Given the description of an element on the screen output the (x, y) to click on. 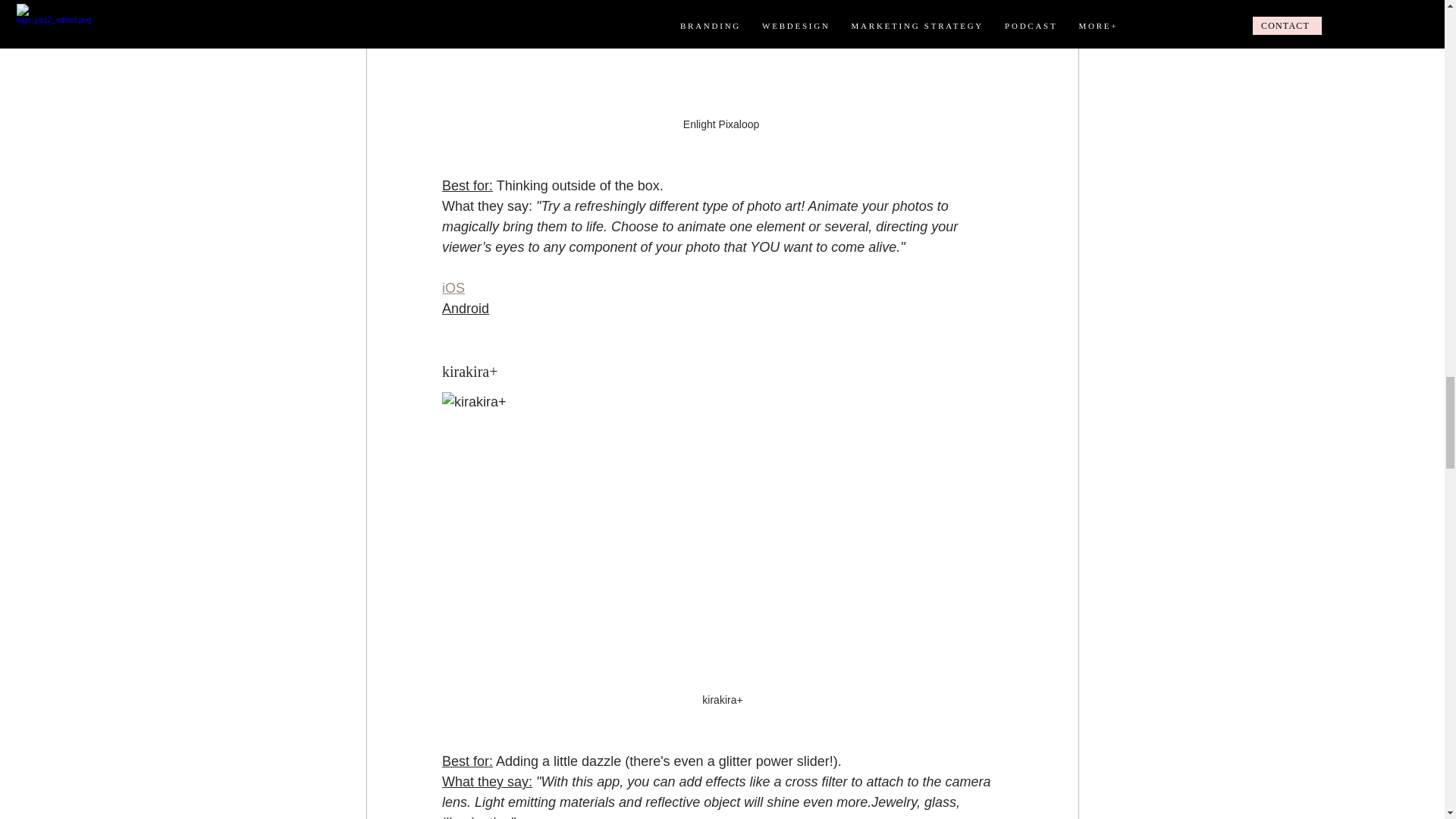
iOS (452, 287)
